Given the description of an element on the screen output the (x, y) to click on. 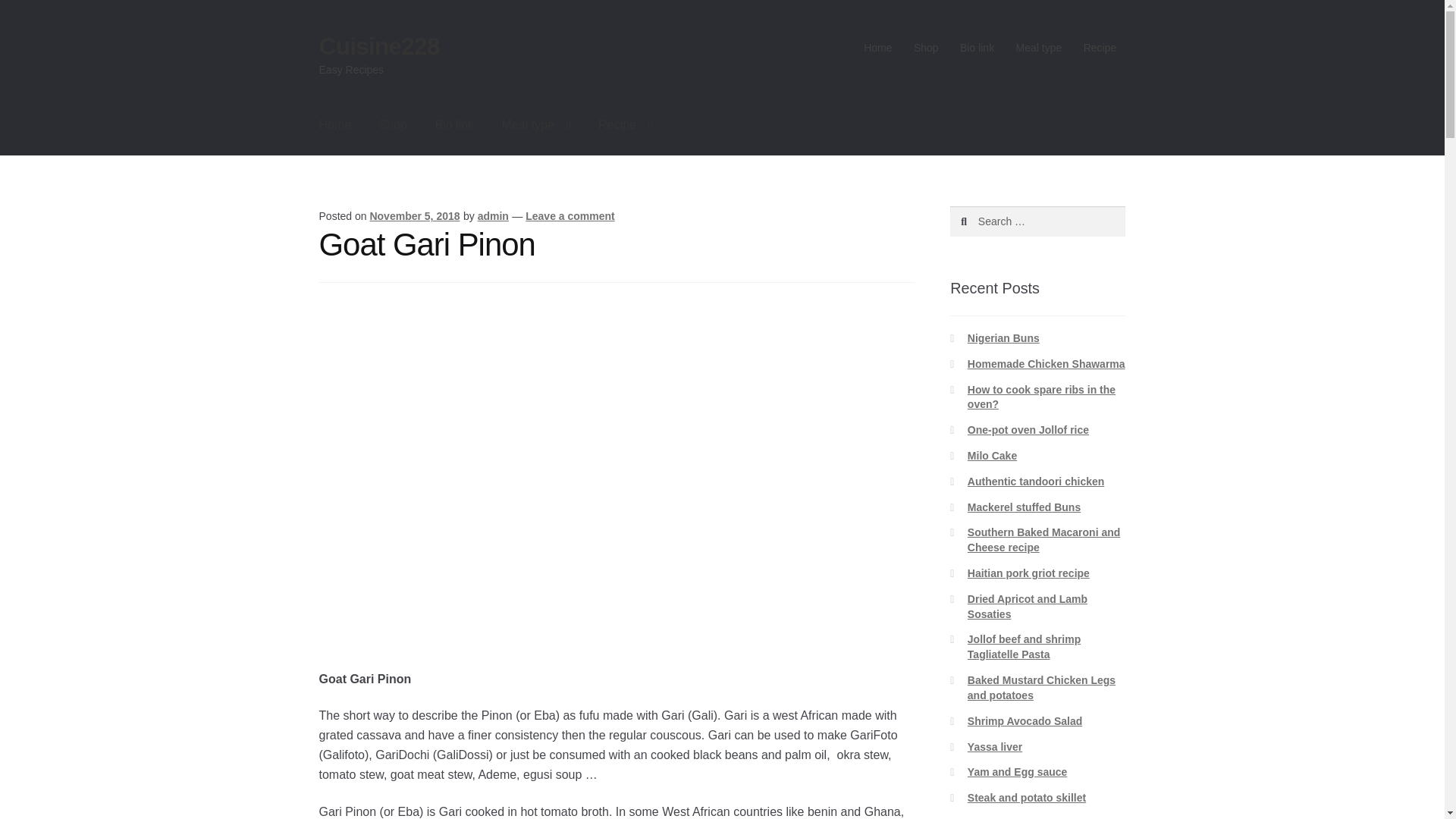
Shop (925, 47)
Home (877, 47)
Cuisine228 (378, 45)
Shop (392, 124)
Recipe (1099, 47)
Meal type (1038, 47)
Meal type (536, 124)
Home (335, 124)
Bio link (454, 124)
Bio link (977, 47)
